Given the description of an element on the screen output the (x, y) to click on. 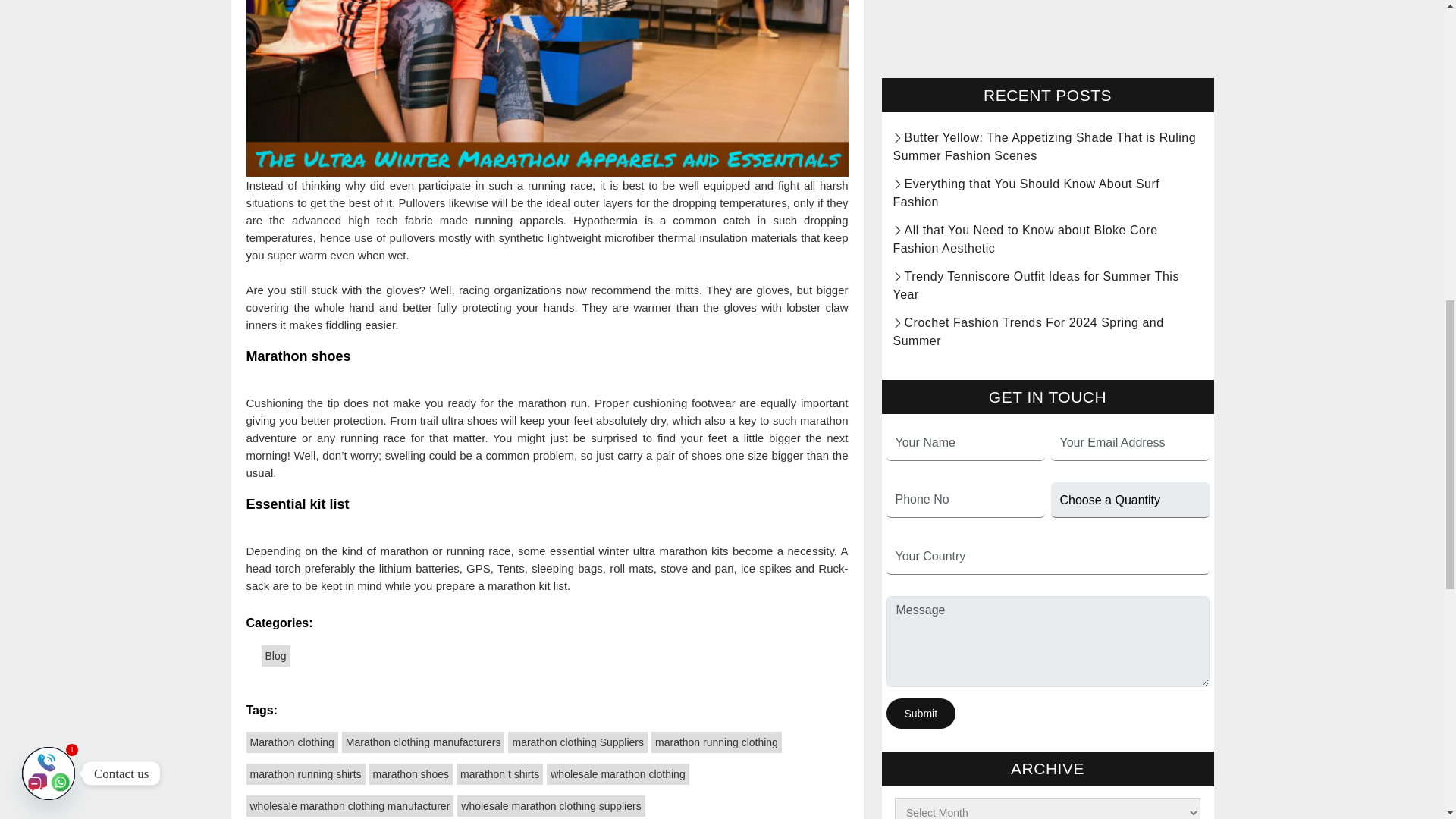
submit (920, 3)
